Given the description of an element on the screen output the (x, y) to click on. 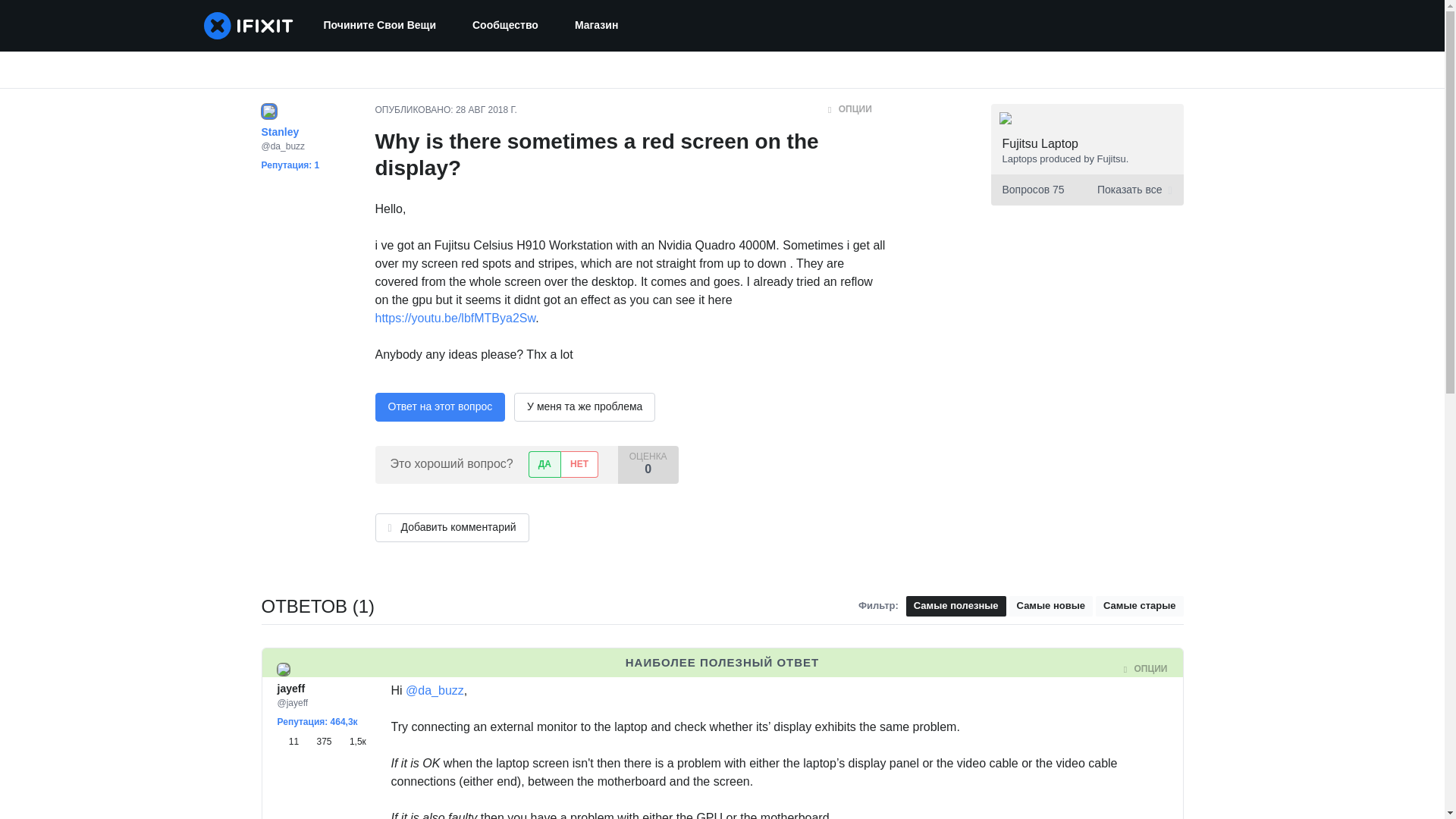
Tue, 28 Aug 2018 00:39:44 -0700 (485, 109)
Fujitsu Laptop (1040, 143)
Tue, 28 Aug 2018 00:48:27 -0700 (501, 669)
